Given the description of an element on the screen output the (x, y) to click on. 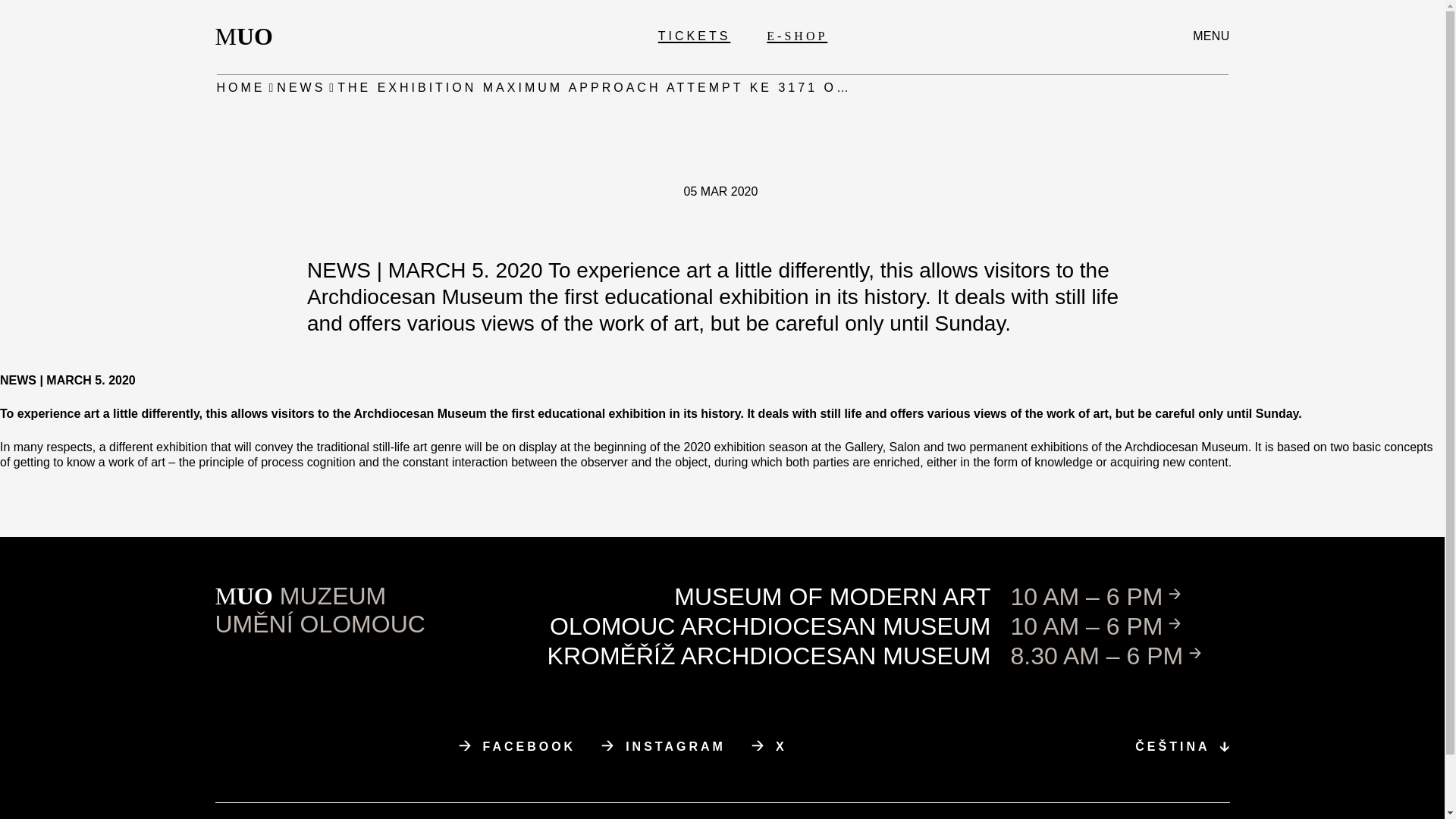
TICKETS (694, 35)
MENU (517, 746)
NEWS (1210, 35)
HOME (248, 36)
MUSEUM OF MODERN ART (300, 88)
OLOMOUC ARCHDIOCESAN MUSEUM (240, 88)
